Given the description of an element on the screen output the (x, y) to click on. 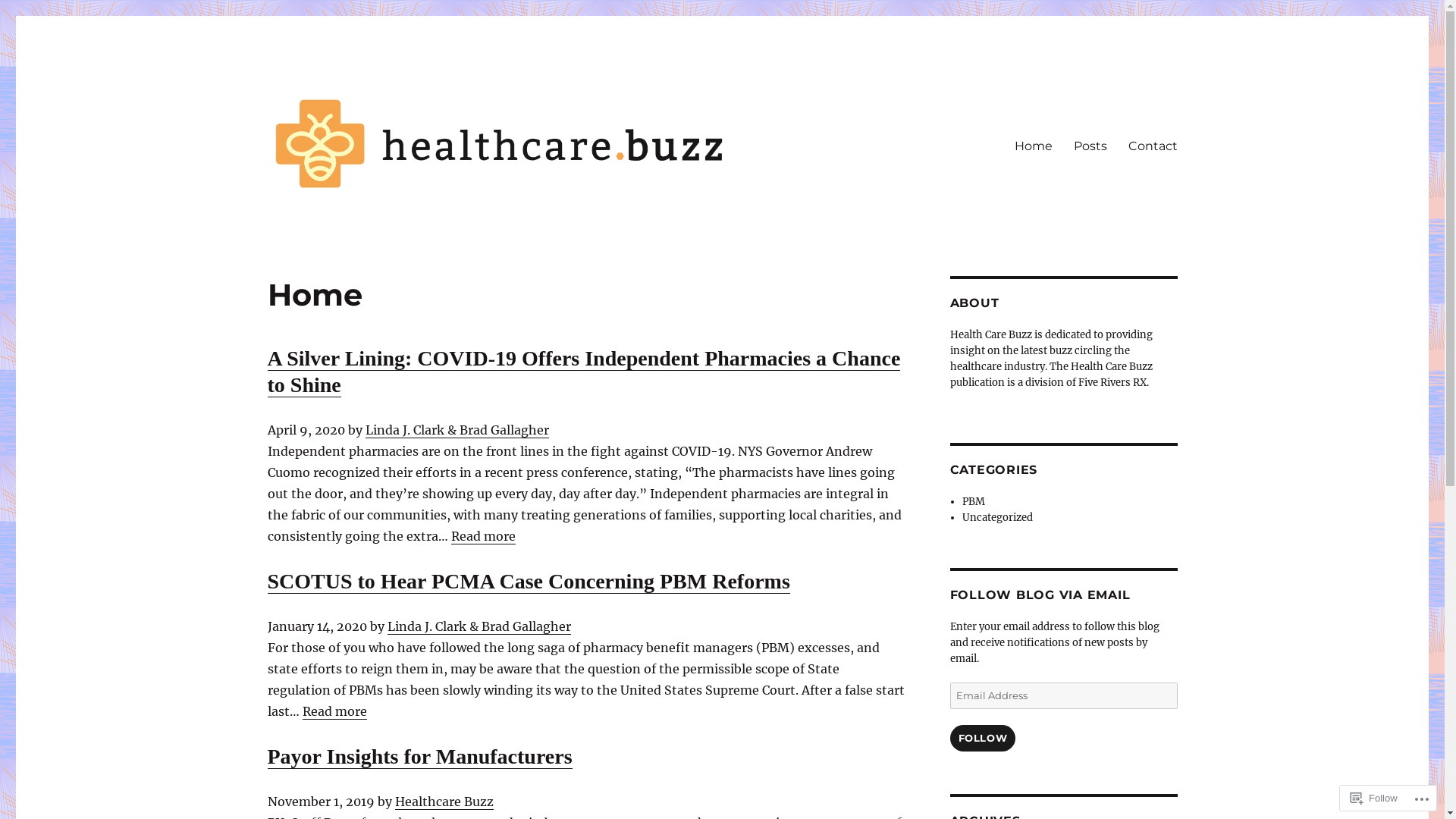
Healthcare Buzz Element type: text (443, 801)
Posts Element type: text (1090, 145)
Health Care Buzz Element type: text (362, 235)
Payor Insights for Manufacturers Element type: text (418, 756)
FOLLOW Element type: text (982, 737)
PBM Element type: text (973, 501)
Linda J. Clark & Brad Gallagher Element type: text (478, 625)
Read more Element type: text (482, 535)
Contact Element type: text (1152, 145)
Home Element type: text (1033, 145)
Follow Element type: text (1373, 797)
Read more Element type: text (333, 710)
Uncategorized Element type: text (997, 517)
SCOTUS to Hear PCMA Case Concerning PBM Reforms Element type: text (527, 581)
Linda J. Clark & Brad Gallagher Element type: text (457, 429)
